Given the description of an element on the screen output the (x, y) to click on. 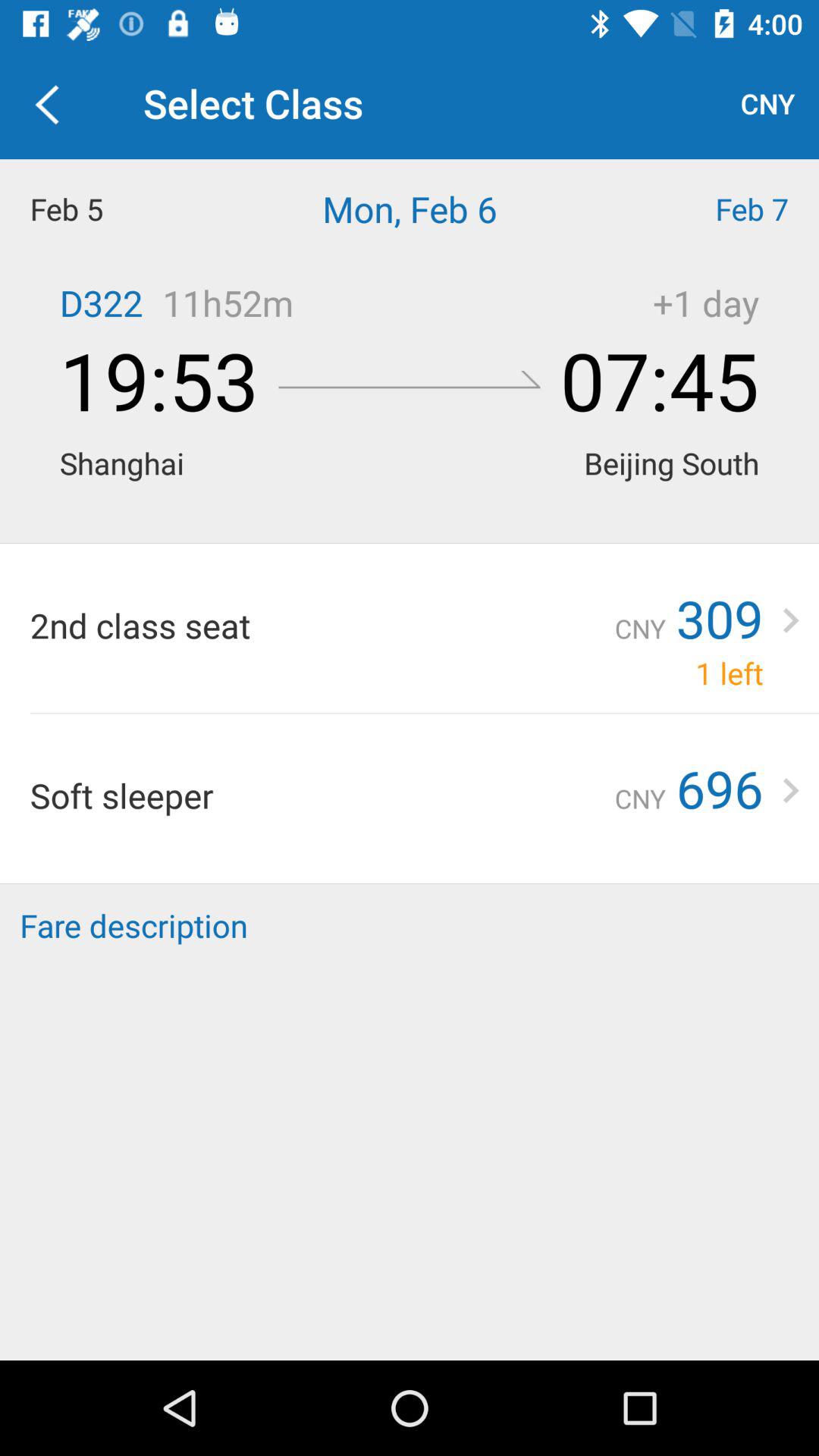
choose the 1 left (729, 672)
